Given the description of an element on the screen output the (x, y) to click on. 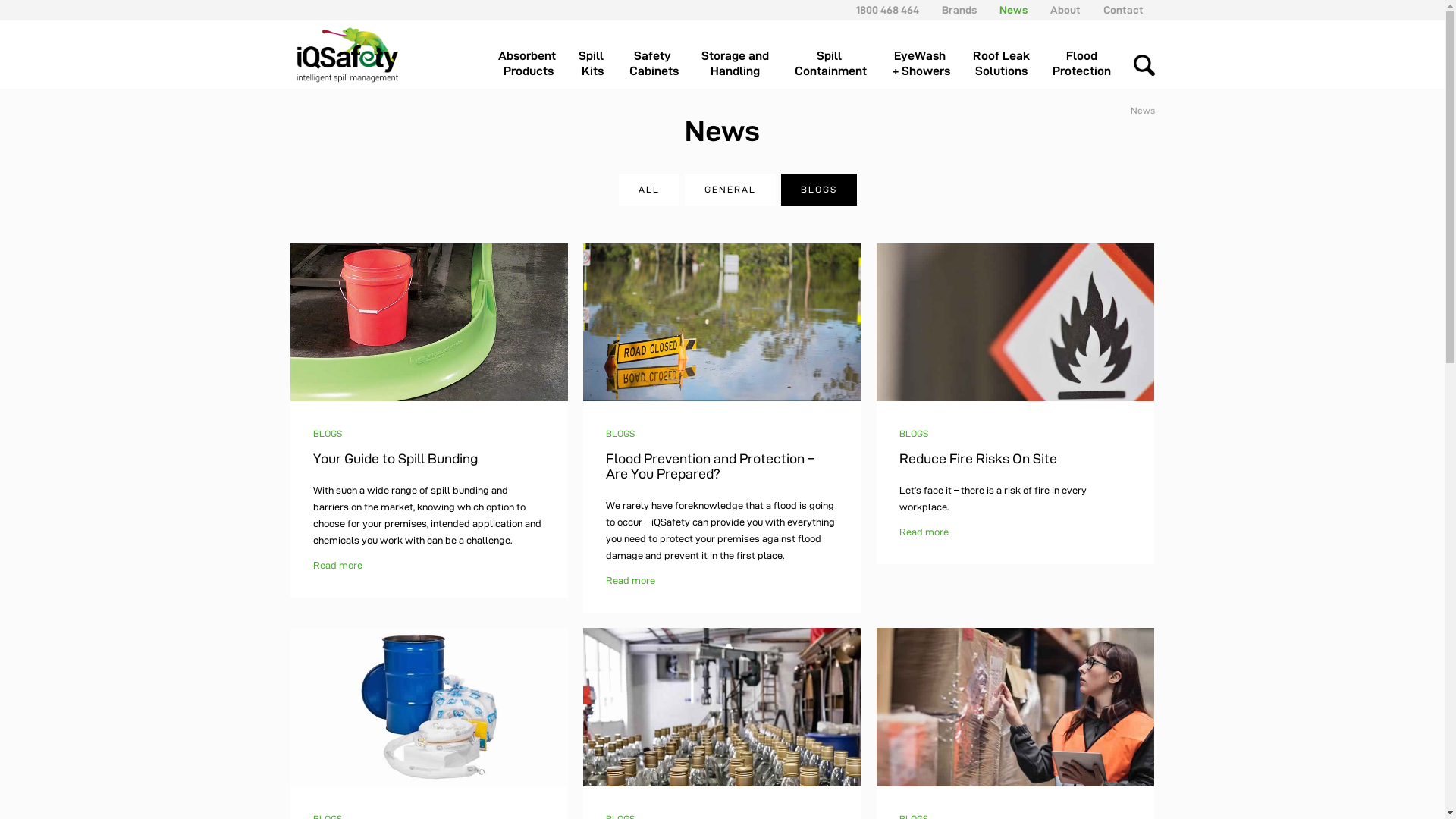
Brands Element type: text (958, 9)
Spill
 Containment Element type: text (828, 68)
EyeWash
 + Showers Element type: text (918, 68)
Read more Element type: text (336, 564)
1800 468 464 Element type: text (886, 9)
Read more Element type: text (630, 579)
Absorbent
 Products Element type: text (526, 68)
BLOGS Element type: text (619, 433)
Contact Element type: text (1122, 9)
Spill
 Kits Element type: text (589, 68)
BLOGS Element type: text (818, 189)
GENERAL Element type: text (729, 189)
IQSafety Element type: hover (346, 54)
Safety
 Cabinets Element type: text (652, 68)
News Element type: text (1013, 9)
Read more Element type: text (923, 531)
BLOGS Element type: text (326, 433)
Reduce Fire Risks On Site Element type: text (978, 458)
Flood
Protection Element type: text (1081, 68)
Roof Leak
Solutions Element type: text (1000, 68)
Your Guide to Spill Bunding Element type: text (394, 458)
BLOGS Element type: text (913, 433)
Storage and
Handling Element type: text (734, 68)
About Element type: text (1064, 9)
ALL Element type: text (648, 189)
